Given the description of an element on the screen output the (x, y) to click on. 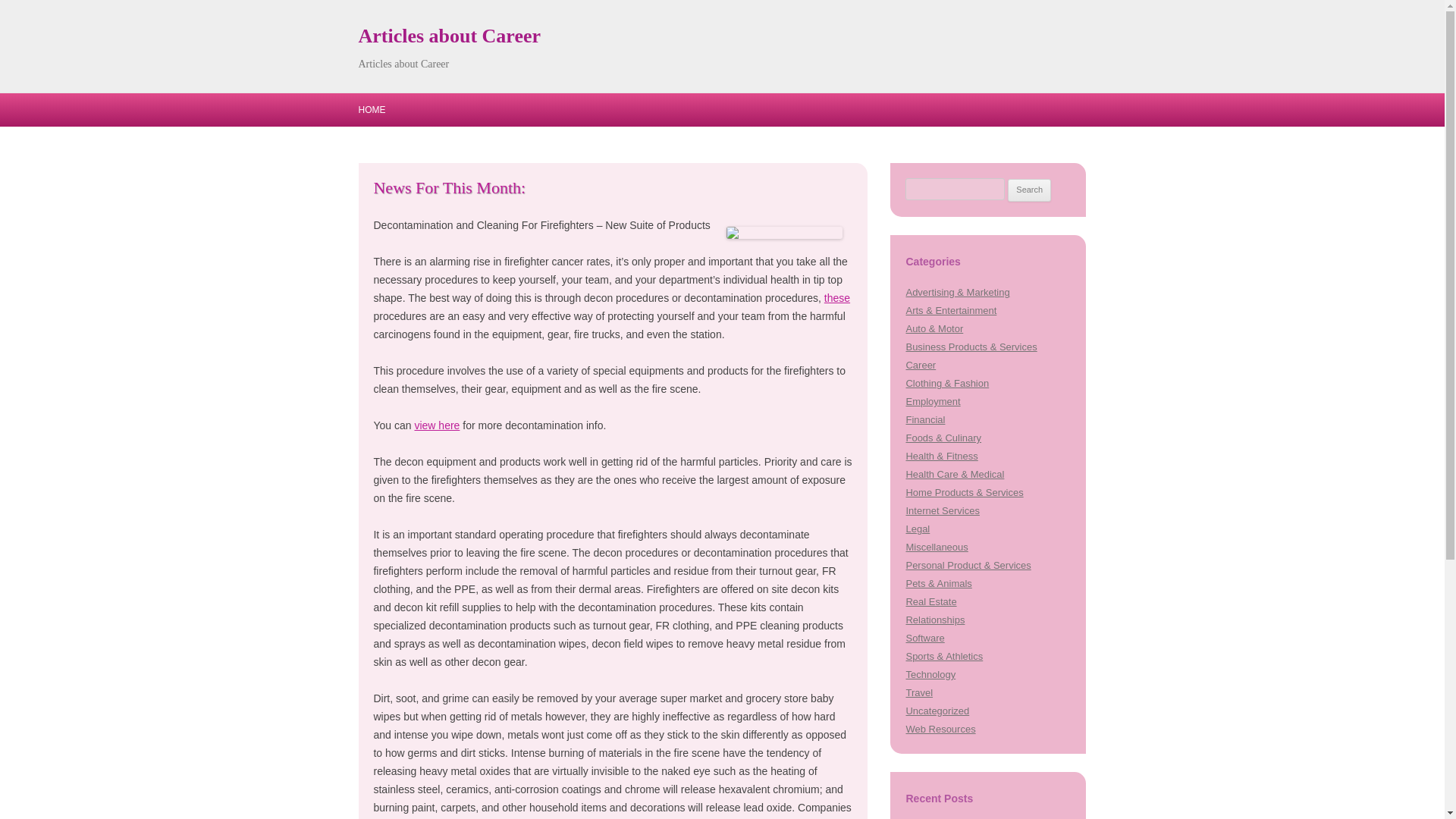
Technology (930, 674)
Internet Services (941, 510)
Uncategorized (937, 710)
Miscellaneous (936, 546)
Search (1029, 190)
Travel (919, 692)
Career (920, 365)
Relationships (934, 619)
Articles about Career (449, 36)
